Given the description of an element on the screen output the (x, y) to click on. 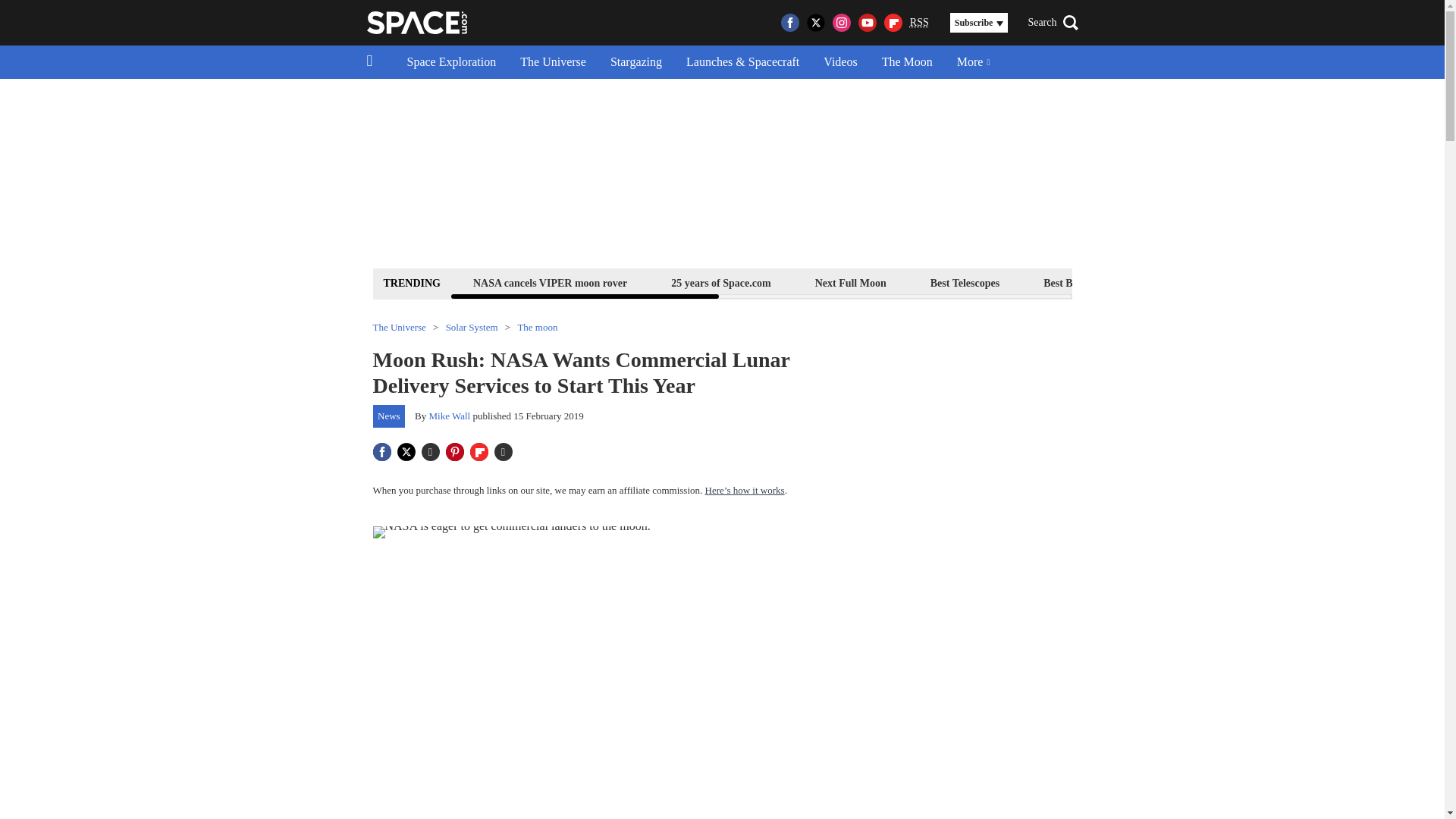
Best Binoculars (1078, 282)
The Moon (906, 61)
Stargazing (636, 61)
The Universe (553, 61)
Videos (839, 61)
NASA cancels VIPER moon rover (549, 282)
25 years of Space.com (720, 282)
Next Full Moon (850, 282)
Space Exploration (451, 61)
RSS (919, 22)
Best Star Projectors (1204, 282)
Really Simple Syndication (919, 21)
Best Telescopes (964, 282)
Space Calendar (1329, 282)
